Given the description of an element on the screen output the (x, y) to click on. 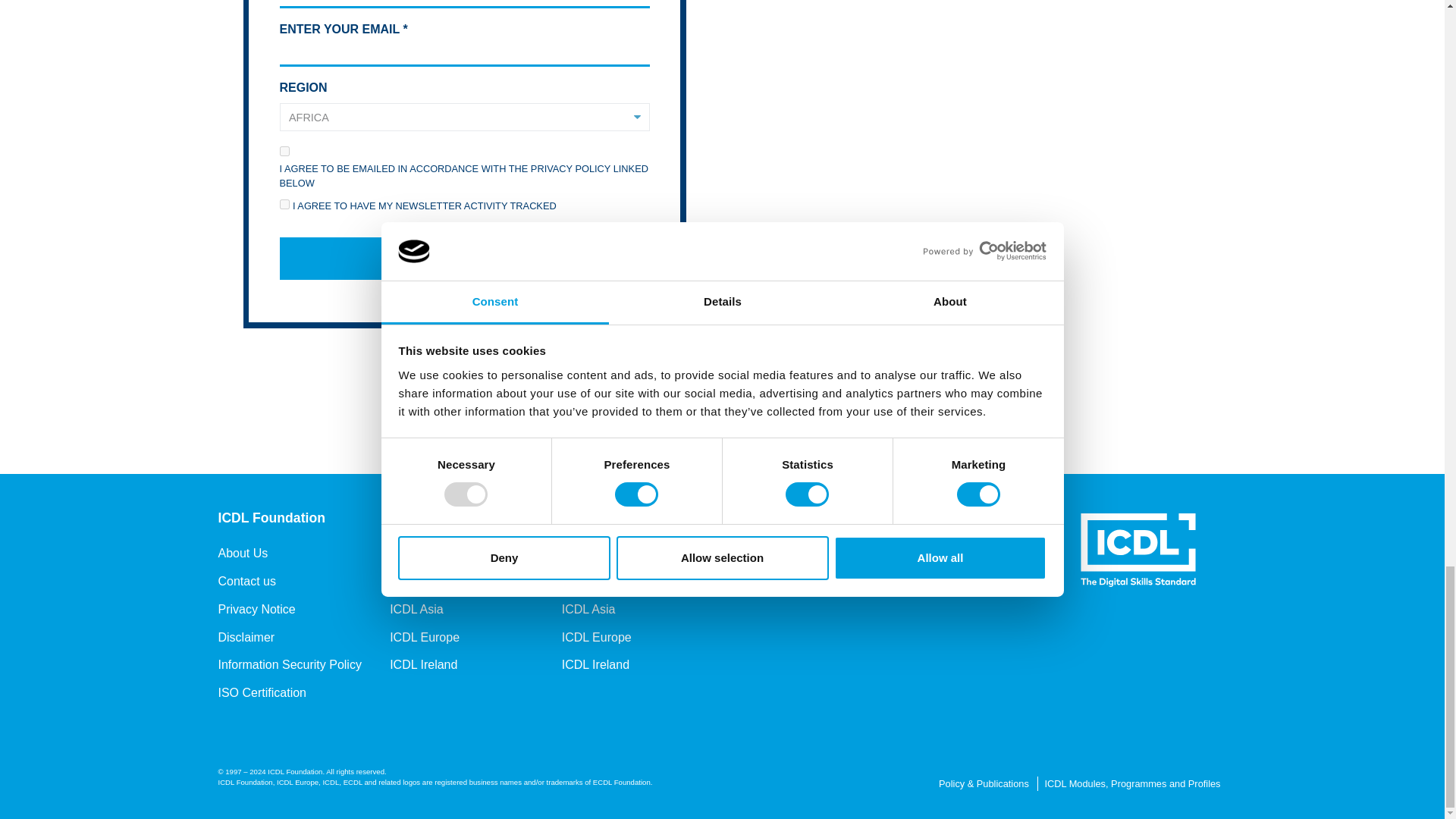
on (283, 204)
on (283, 151)
